Given the description of an element on the screen output the (x, y) to click on. 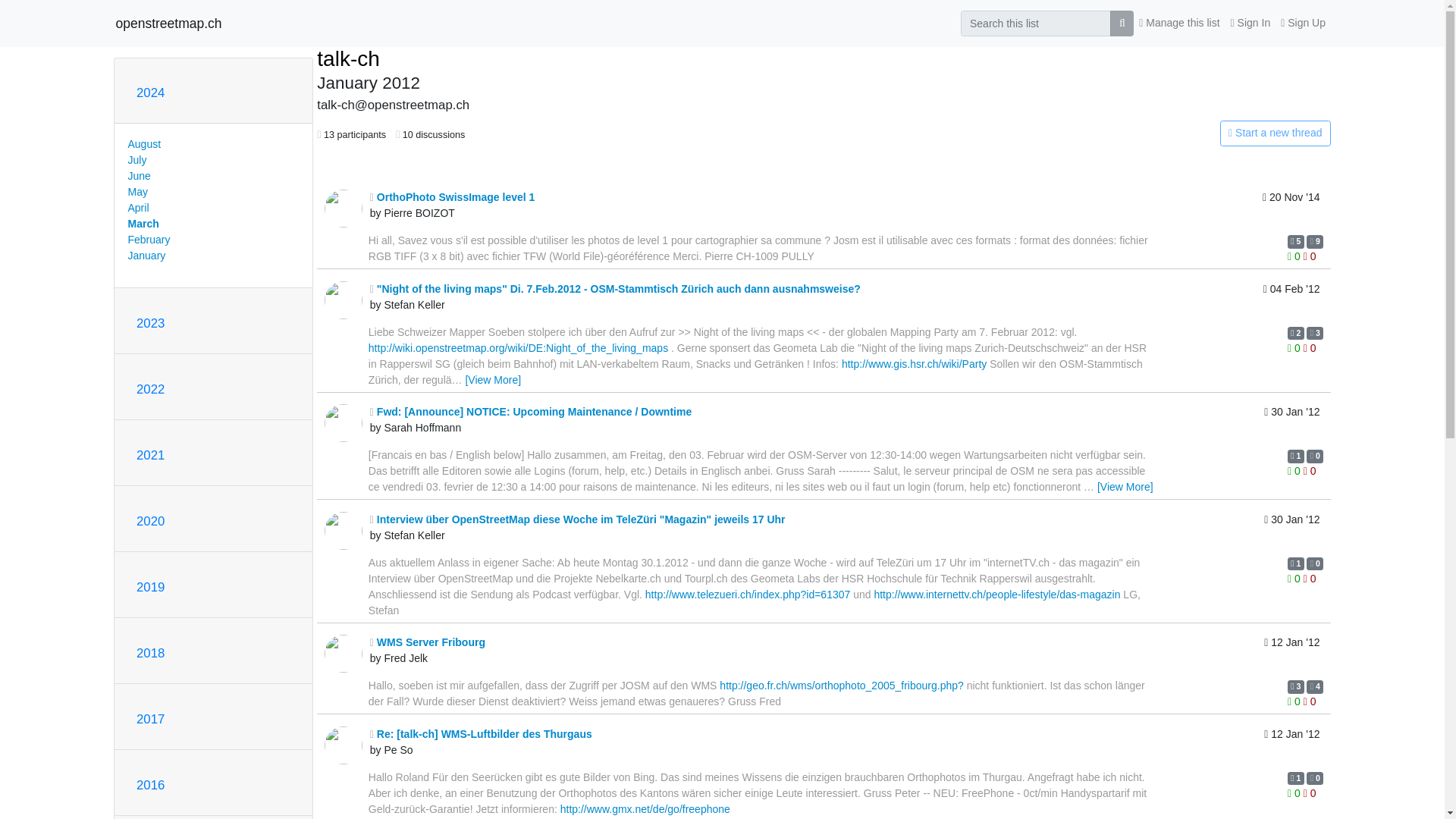
You must be logged-in to vote. (1295, 256)
2024 (150, 92)
openstreetmap.ch (168, 22)
Thursday, 20 November 2014 05:37:36 (1291, 208)
Manage this list (1179, 22)
June (138, 175)
2023 (150, 323)
You must be logged-in to create a thread. (1162, 133)
You must be logged-in to vote. (1309, 256)
Sign Up (1302, 22)
March (143, 223)
You must be logged-in to vote. (1309, 347)
Saturday, 4 February 2012 21:32:59 (1291, 300)
You must be logged-in to vote. (1295, 347)
2022 (150, 389)
